Given the description of an element on the screen output the (x, y) to click on. 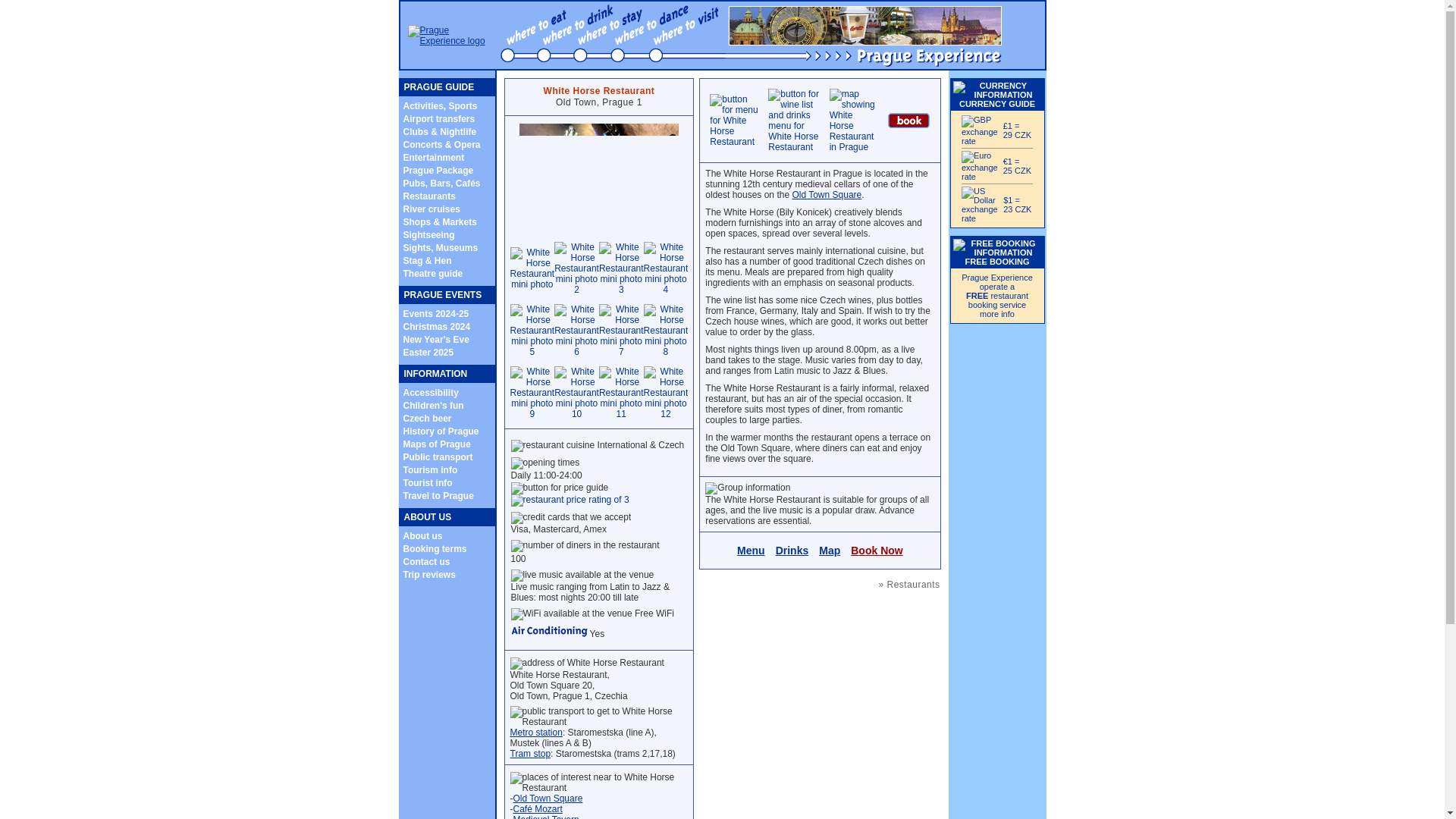
Maps of Prague (436, 443)
Restaurants (429, 195)
Prague Package (438, 170)
Easter 2025 (428, 352)
Tourism info (430, 469)
Public transport (438, 457)
Sights, Museums (441, 247)
Events 2024-25 (435, 312)
Travel to Prague (438, 494)
Theatre guide (433, 273)
Christmas 2024 (436, 326)
New Year's Eve (435, 338)
About us (422, 535)
Czech beer (427, 417)
Entertainment (433, 156)
